Given the description of an element on the screen output the (x, y) to click on. 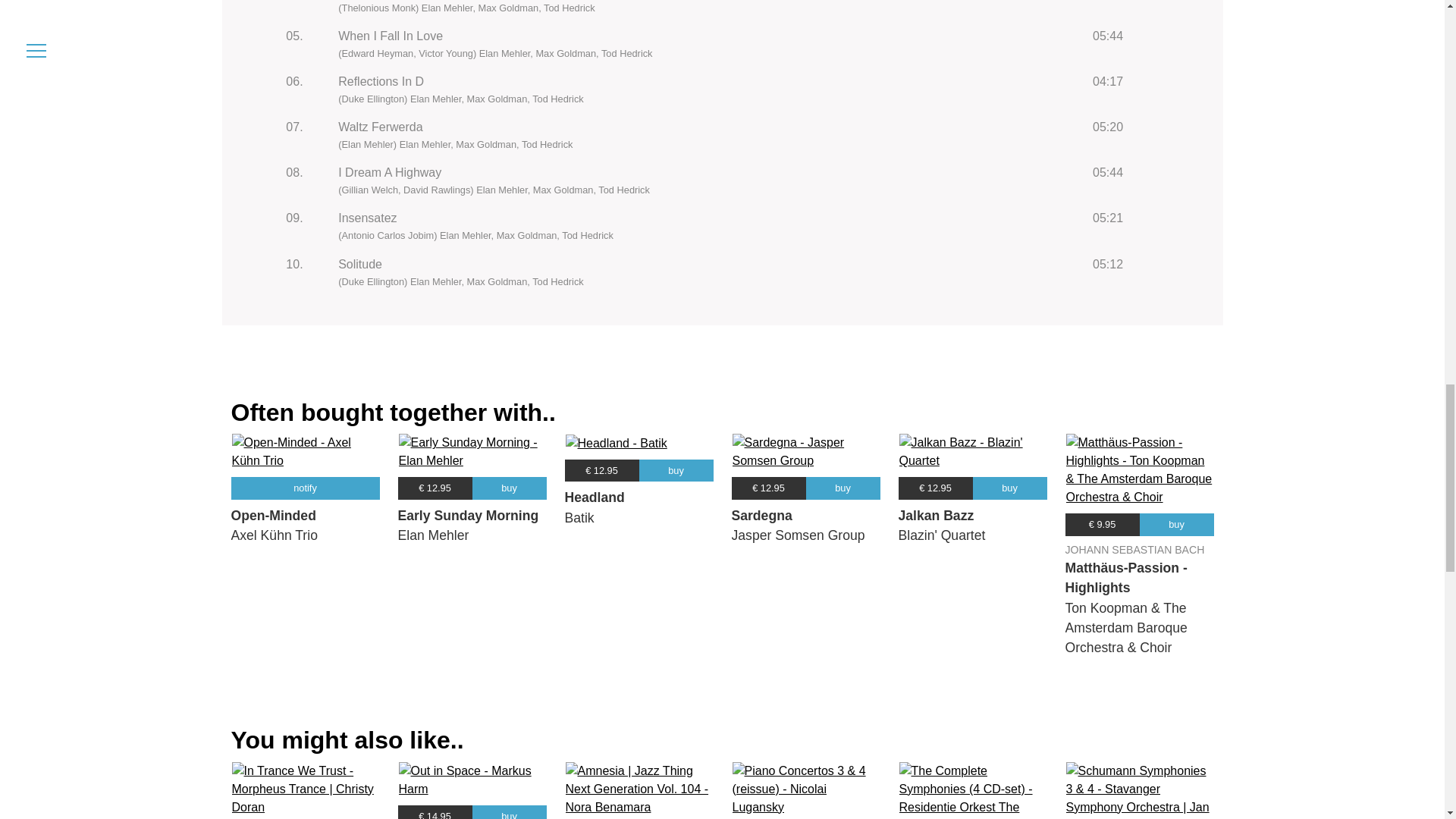
Headland - Batik (616, 443)
Out in Space - Markus Harm (472, 780)
Sardegna - Jasper Somsen Group (805, 452)
Early Sunday Morning - Elan Mehler (472, 452)
notify (304, 487)
Jalkan Bazz - Blazin' Quartet (972, 452)
